Given the description of an element on the screen output the (x, y) to click on. 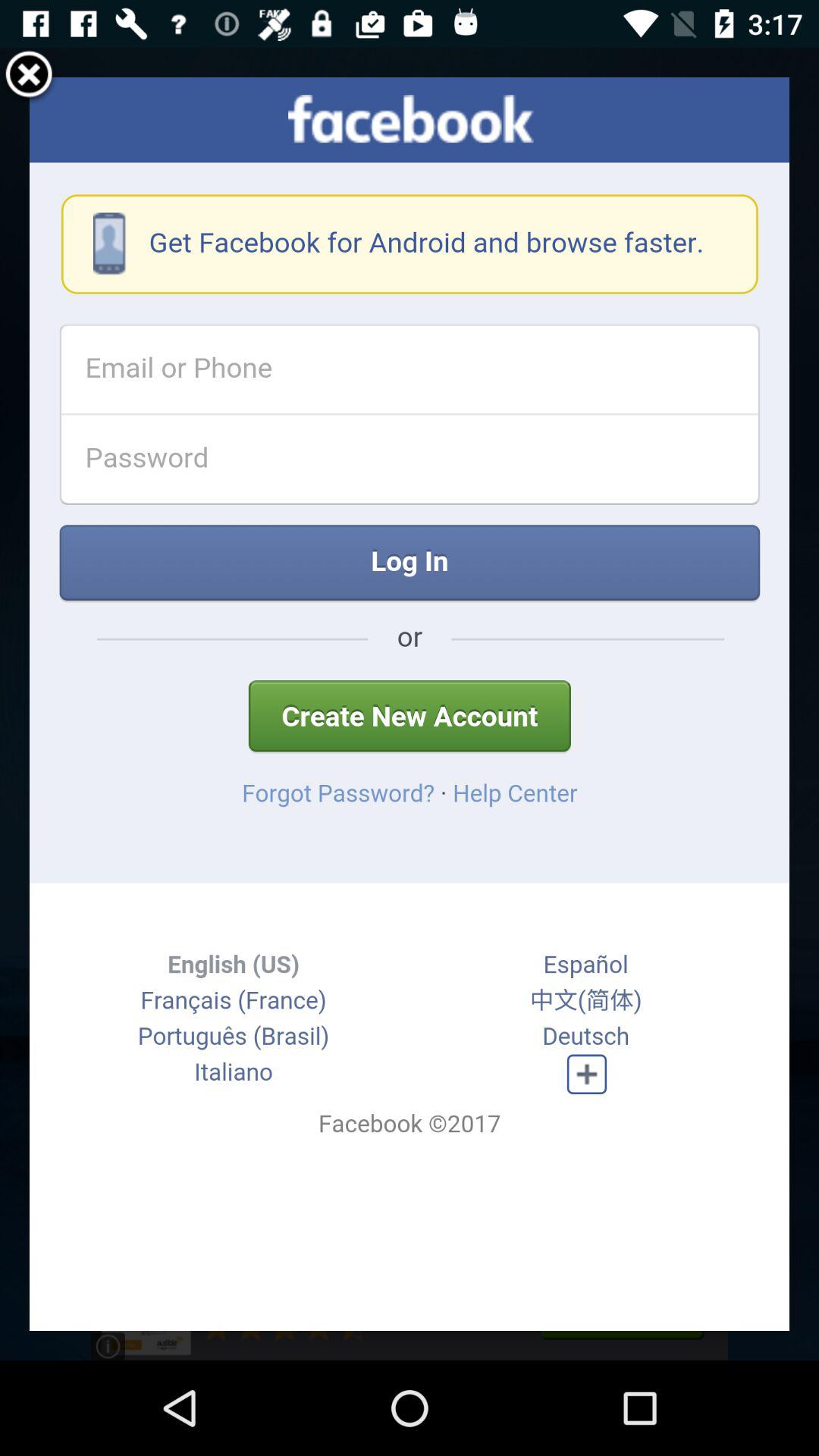
cancel (29, 76)
